Given the description of an element on the screen output the (x, y) to click on. 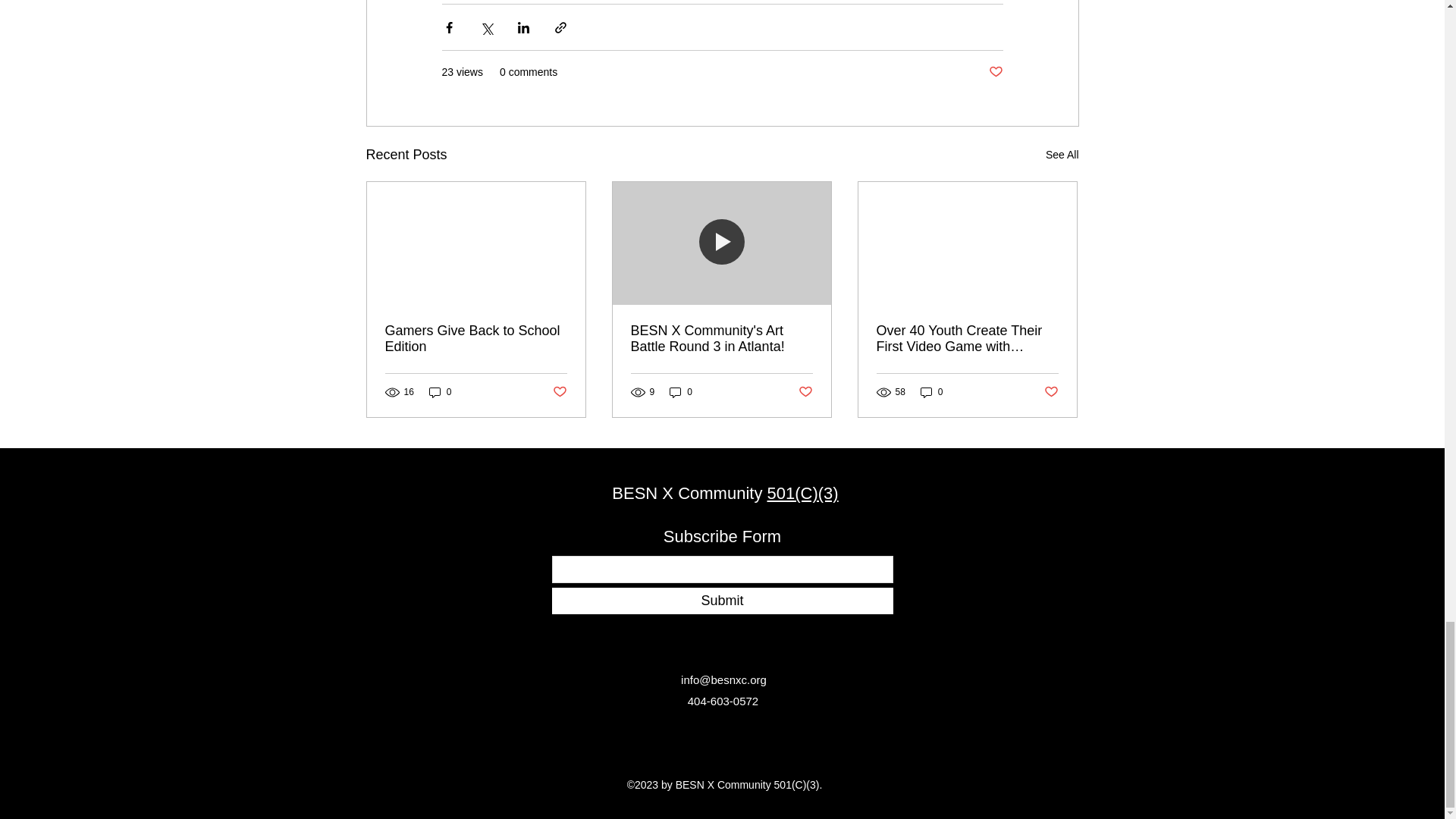
Post not marked as liked (804, 392)
BESN X Community's Art Battle Round 3 in Atlanta! (721, 338)
Submit (722, 601)
0 (681, 391)
BESN X Community  (689, 493)
0 (440, 391)
Post not marked as liked (995, 72)
Post not marked as liked (1050, 392)
0 (931, 391)
